Given the description of an element on the screen output the (x, y) to click on. 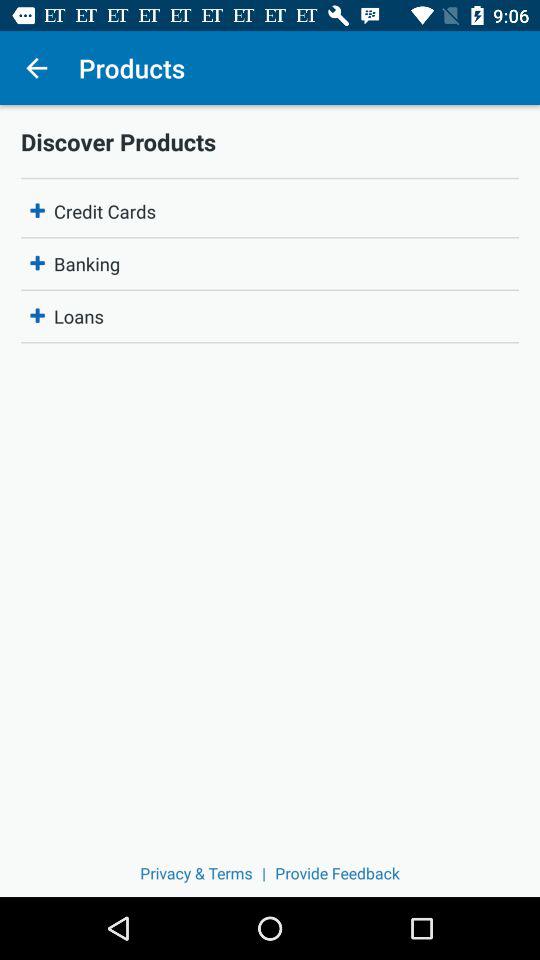
turn off the icon to the right of | (337, 872)
